Given the description of an element on the screen output the (x, y) to click on. 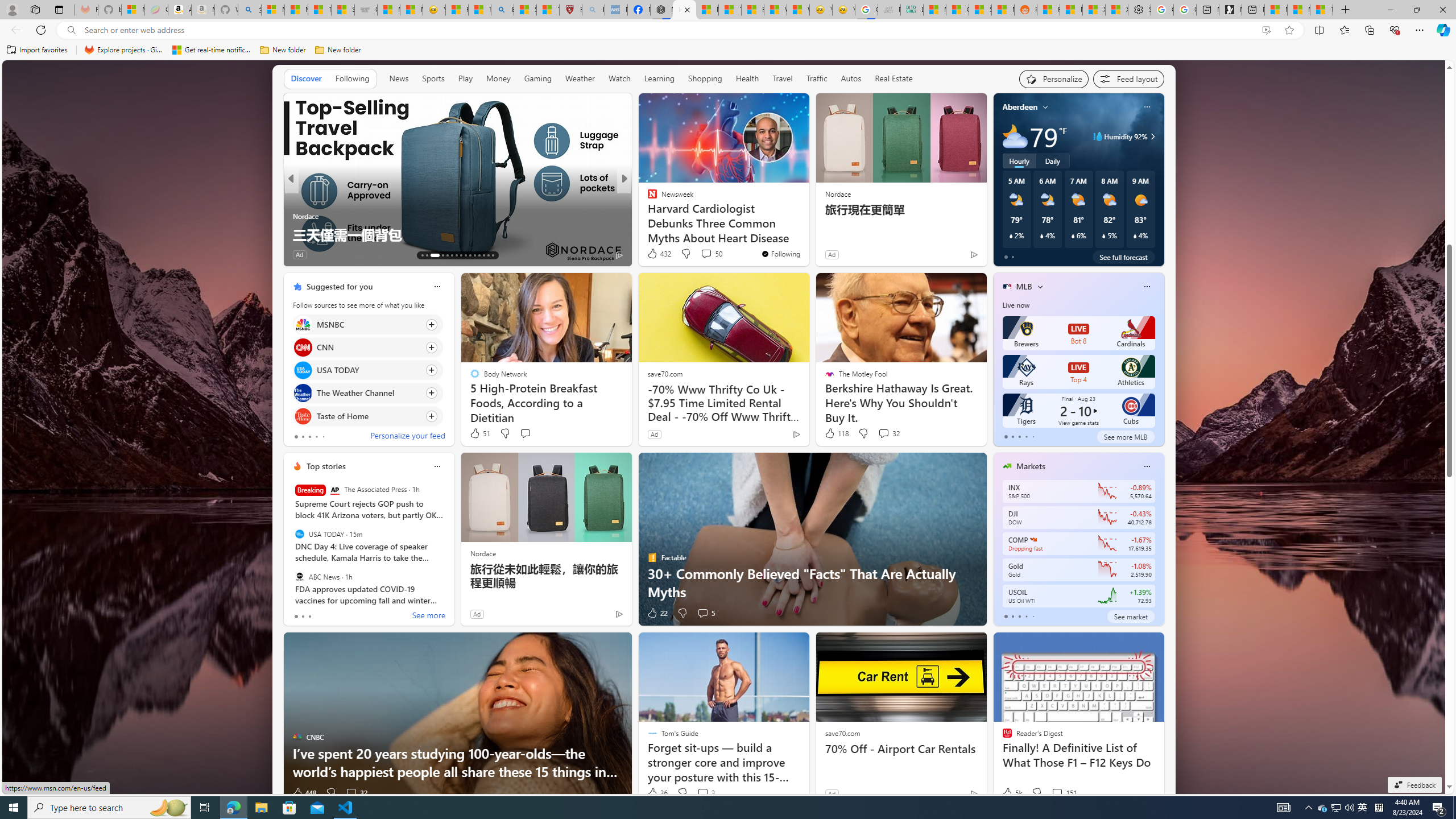
tab-2 (1019, 616)
View comments 1 Comment (698, 254)
See market (1130, 616)
34 Tidbits of General Knowledge Most People Don't Know (807, 225)
113 Like (654, 254)
Suggested for you (338, 286)
tab-0 (1005, 616)
Robert H. Shmerling, MD - Harvard Health (570, 9)
Traffic (816, 78)
